Given the description of an element on the screen output the (x, y) to click on. 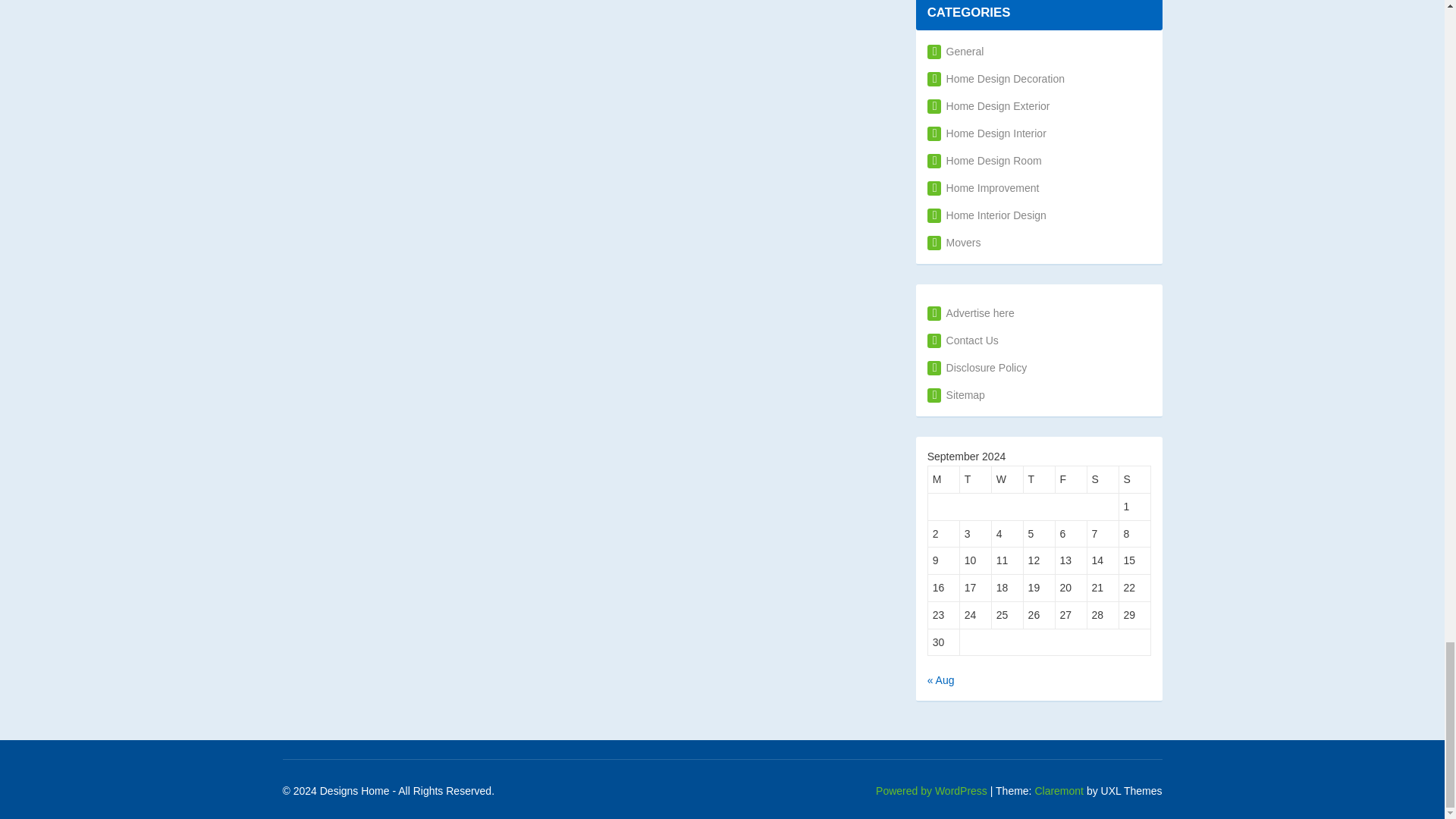
Sunday (1135, 479)
Wednesday (1007, 479)
Thursday (1039, 479)
Friday (1071, 479)
Monday (943, 479)
Saturday (1103, 479)
Tuesday (975, 479)
